Given the description of an element on the screen output the (x, y) to click on. 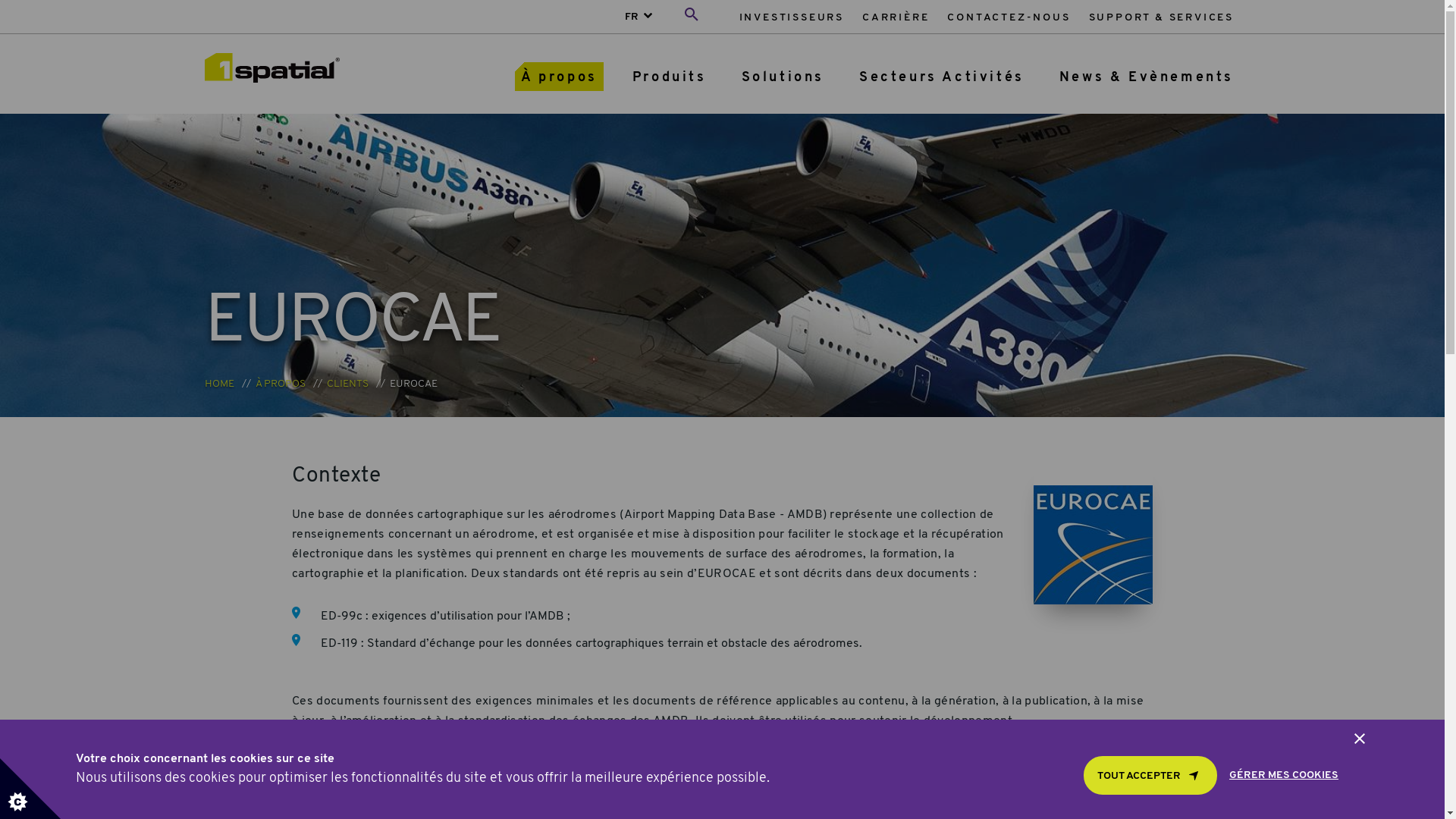
CONTACTEZ-NOUS Element type: text (1008, 17)
Open search form Element type: text (691, 16)
Produits Element type: text (669, 77)
FR Element type: text (629, 17)
HOME Element type: text (219, 383)
INVESTISSEURS Element type: text (791, 17)
TOUT ACCEPTER Element type: text (1150, 775)
Solutions Element type: text (782, 77)
SUPPORT & SERVICES Element type: text (1160, 17)
CLIENTS Element type: text (347, 383)
